Given the description of an element on the screen output the (x, y) to click on. 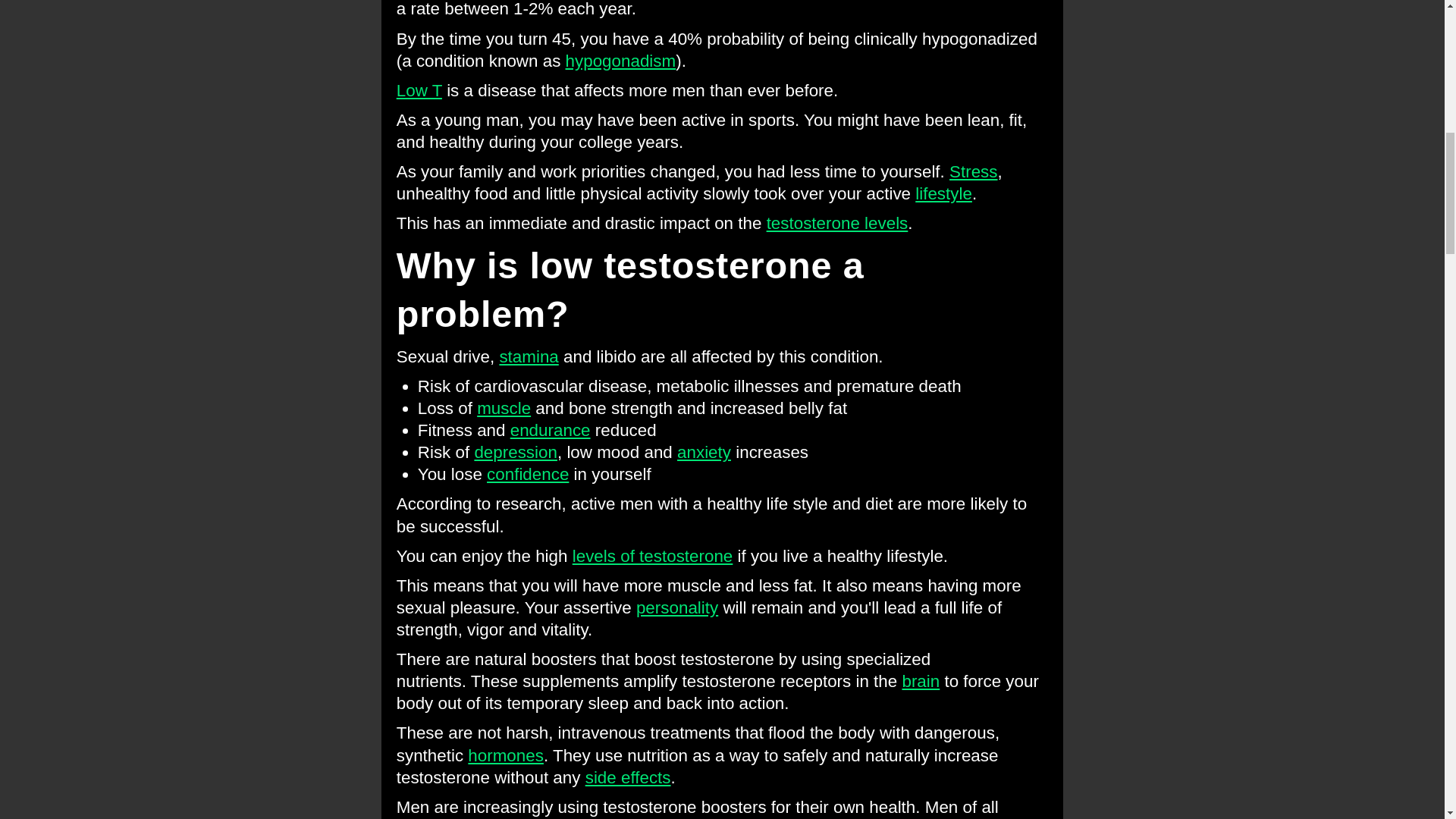
lifestyle (943, 193)
hypogonadism (621, 60)
Low T (419, 90)
personality (676, 607)
stamina (528, 356)
confidence (527, 474)
testosterone levels (837, 222)
muscle (504, 407)
endurance (551, 429)
Stress (973, 171)
levels of testosterone (652, 556)
depression (515, 452)
anxiety (703, 452)
